Given the description of an element on the screen output the (x, y) to click on. 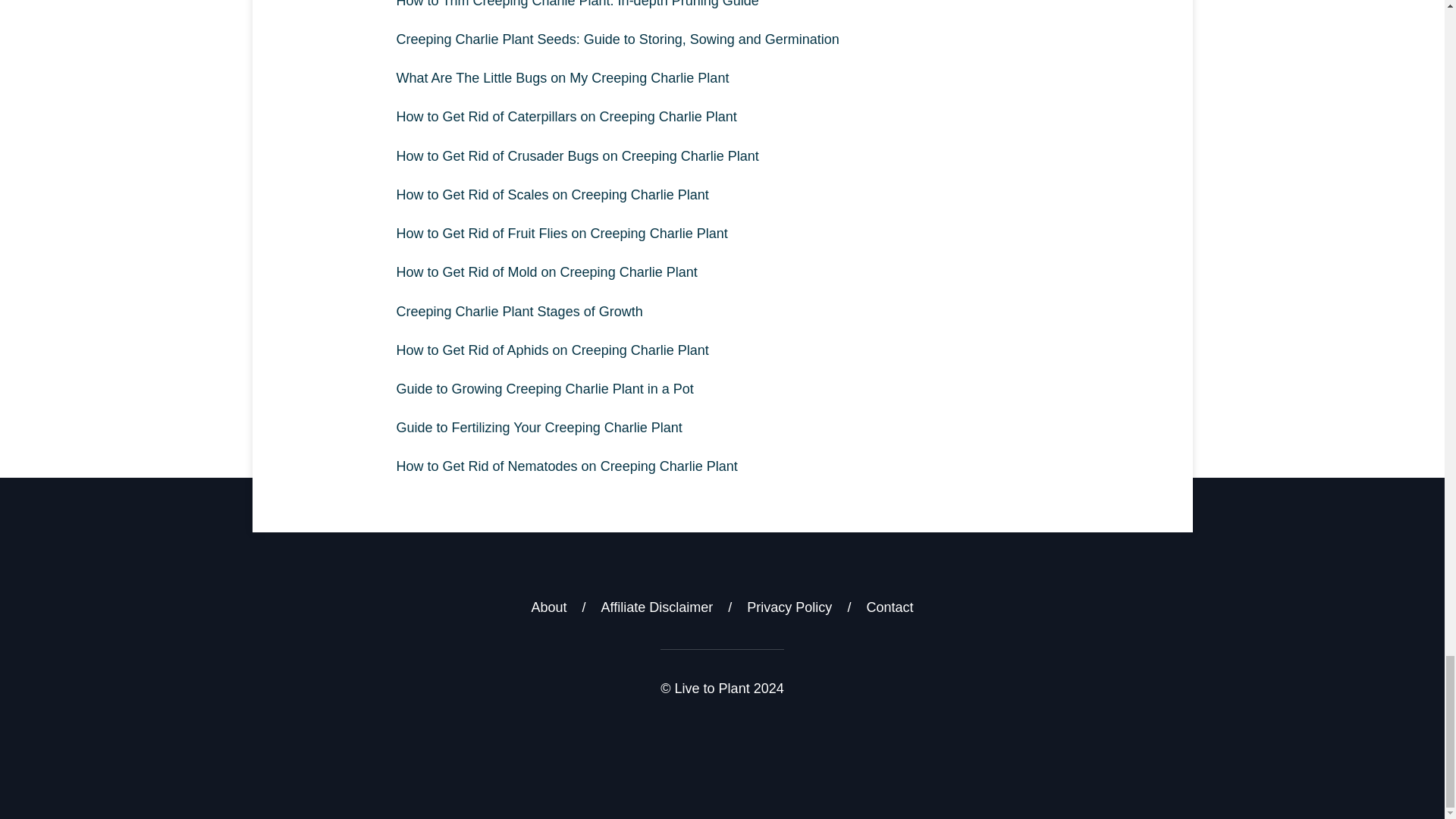
How to Get Rid of Caterpillars on Creeping Charlie Plant (722, 116)
Guide to Growing Creeping Charlie Plant in a Pot (722, 389)
Guide to Fertilizing Your Creeping Charlie Plant (722, 427)
How to Get Rid of Aphids on Creeping Charlie Plant (722, 350)
How to Trim Creeping Charlie Plant: In-depth Pruning Guide (722, 10)
How to Get Rid of Mold on Creeping Charlie Plant (722, 272)
Creeping Charlie Plant Stages of Growth (722, 311)
How to Get Rid of Scales on Creeping Charlie Plant (722, 195)
What Are The Little Bugs on My Creeping Charlie Plant (722, 77)
